Given the description of an element on the screen output the (x, y) to click on. 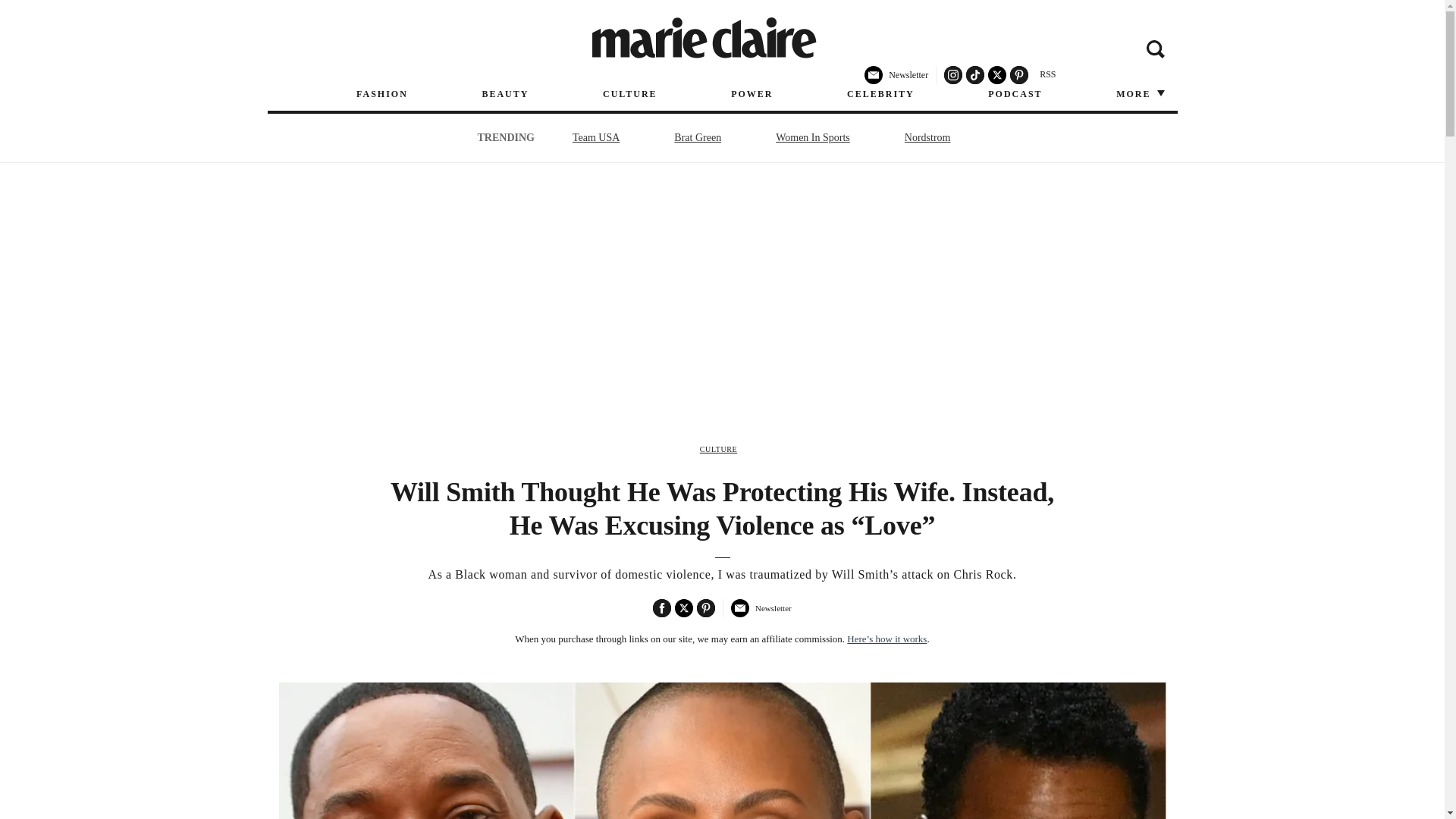
FASHION (381, 94)
POWER (751, 94)
Nordstrom (927, 137)
CELEBRITY (880, 94)
Team USA (595, 137)
BEAUTY (504, 94)
Women In Sports (813, 137)
Brat Green (697, 137)
Newsletter (896, 80)
CULTURE (718, 449)
Really Simple Syndication (1047, 73)
RSS (1047, 73)
Newsletter (760, 614)
PODCAST (1015, 94)
CULTURE (630, 94)
